Given the description of an element on the screen output the (x, y) to click on. 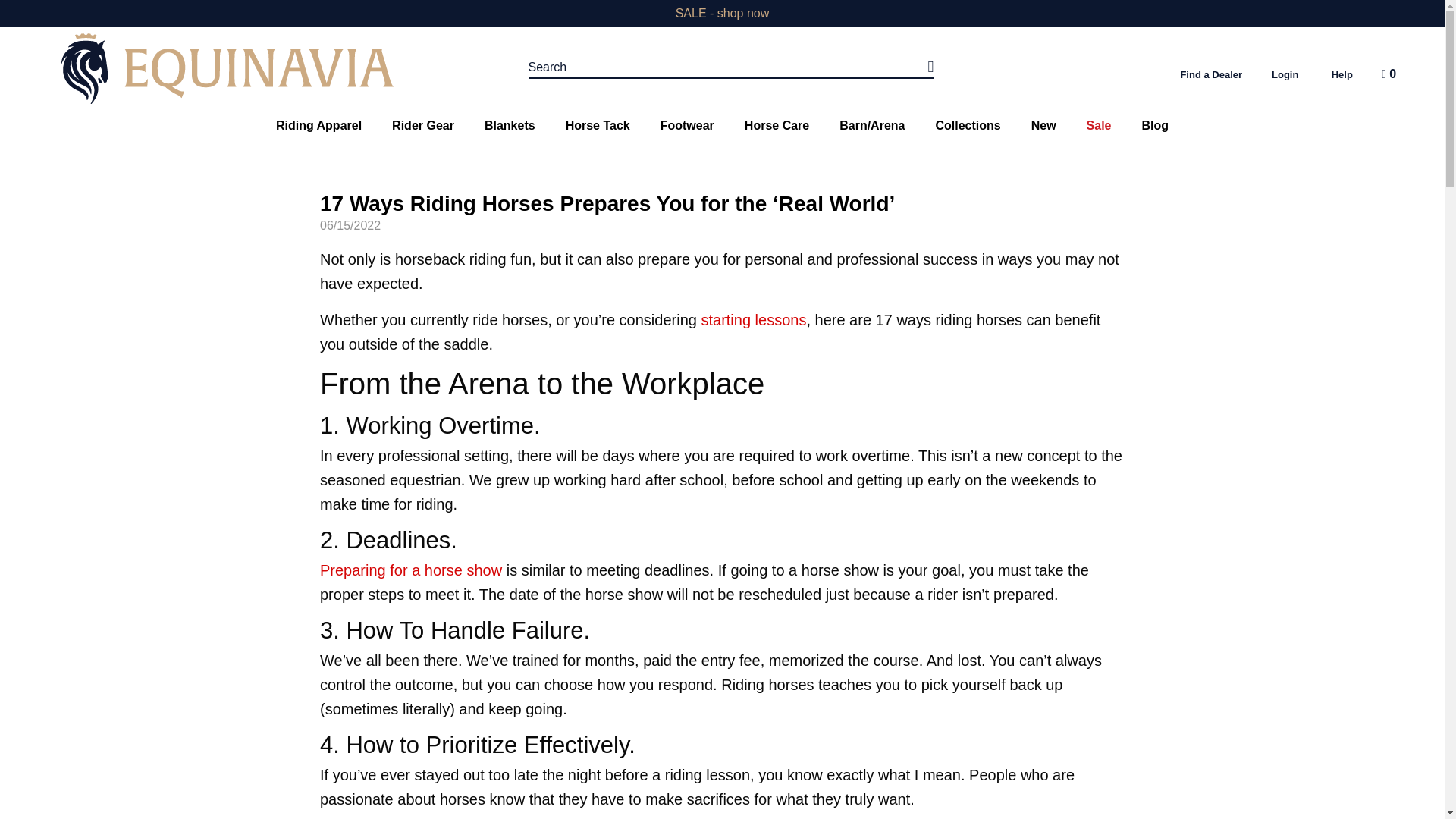
SALE - shop now (722, 12)
Search (730, 67)
Help (1342, 74)
Find a Dealer (1210, 74)
Login (1284, 74)
